Given the description of an element on the screen output the (x, y) to click on. 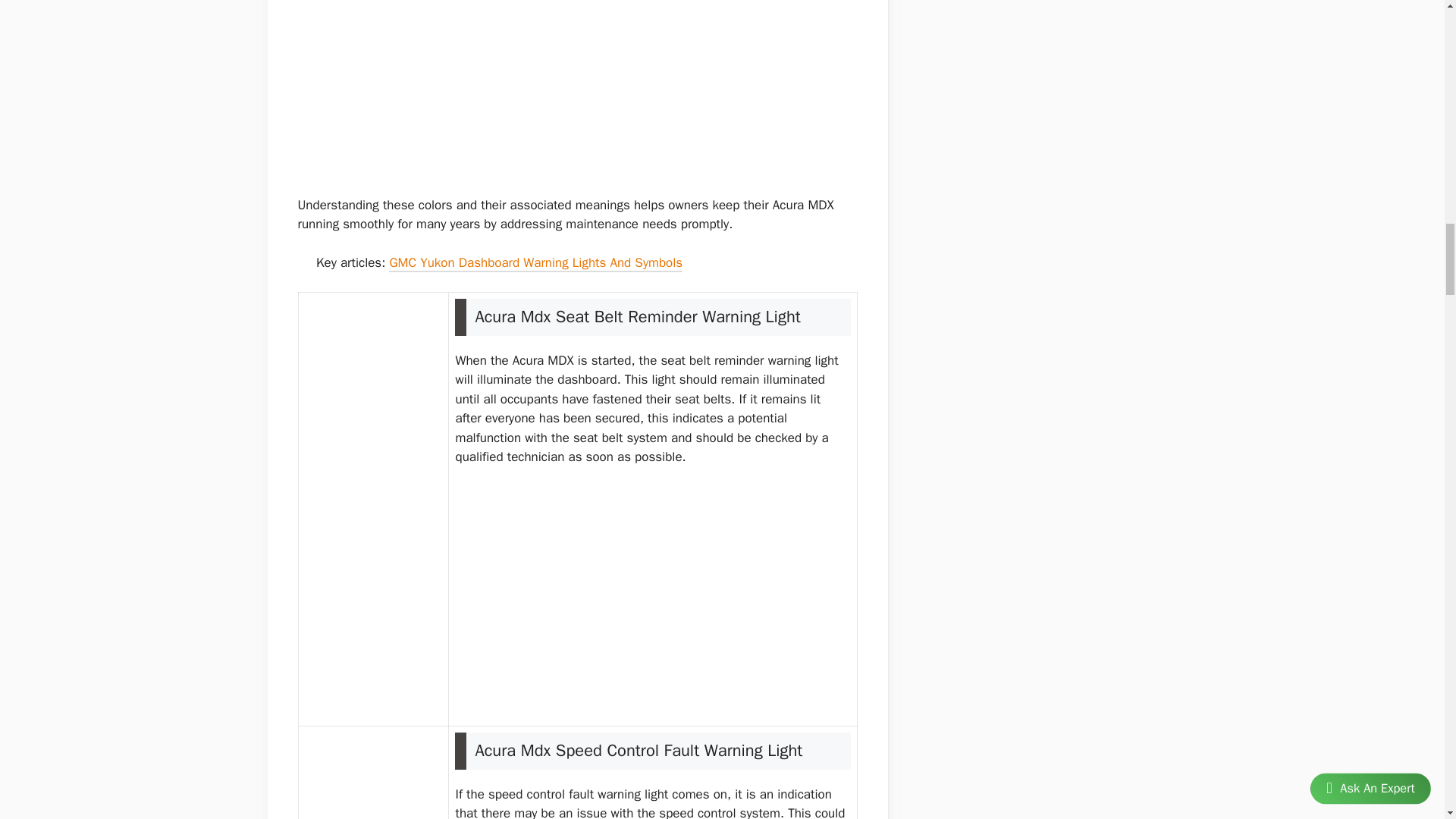
Acura Mdx Dashboard Warning Lights And Symbols 4 (373, 509)
Acura Mdx Dashboard Warning Lights And Symbols 5 (373, 788)
GMC Yukon Dashboard Warning Lights And Symbols (535, 263)
Acura Mdx Dashboard Warning Lights And Symbols 3 (304, 261)
